Given the description of an element on the screen output the (x, y) to click on. 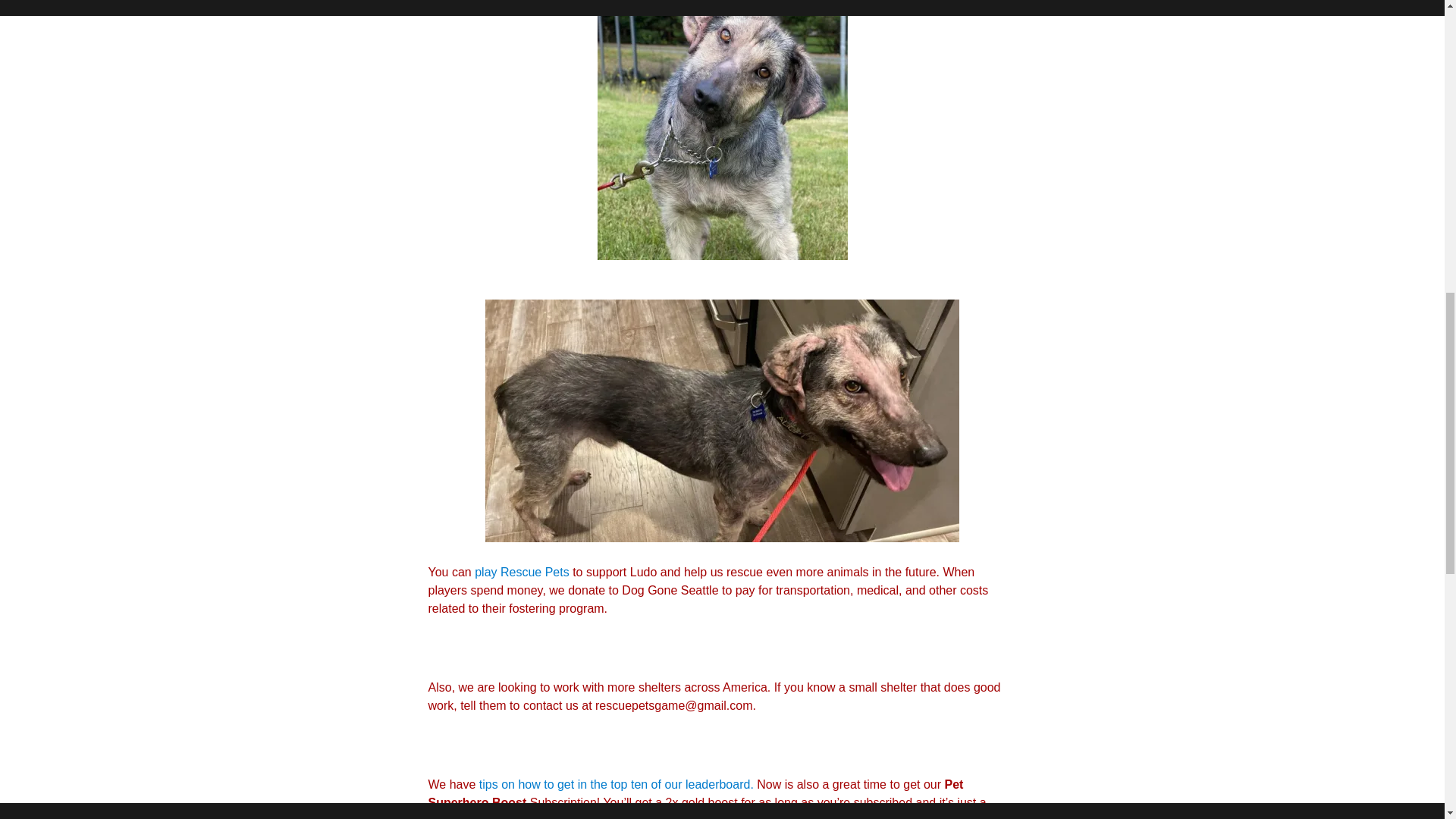
play Rescue Pets (521, 571)
tips on how to get in the top ten of our leaderboard. (618, 784)
